Given the description of an element on the screen output the (x, y) to click on. 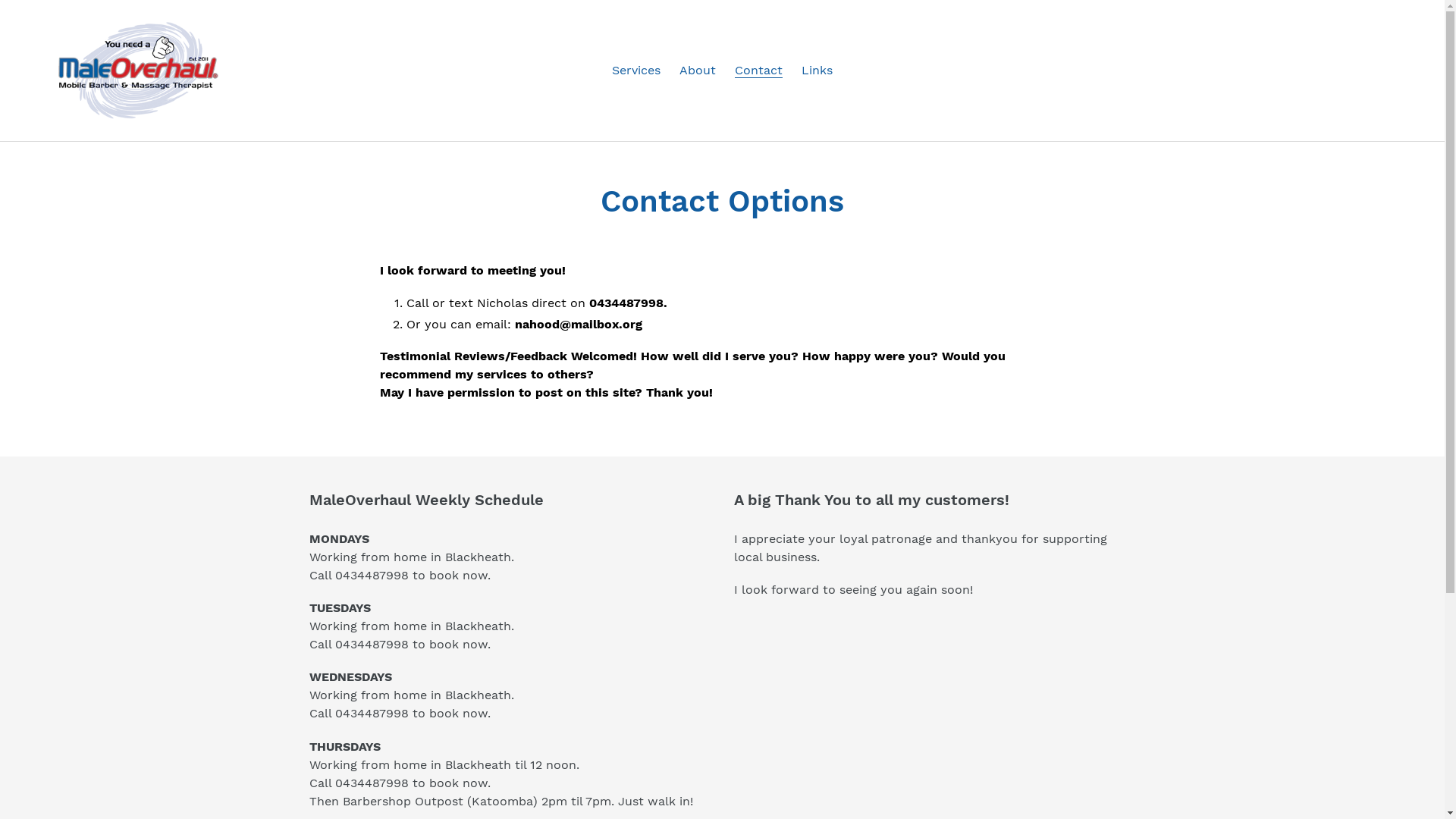
About Element type: text (697, 70)
Services Element type: text (636, 70)
Contact Element type: text (758, 70)
Search Element type: text (1381, 70)
Links Element type: text (816, 70)
